Given the description of an element on the screen output the (x, y) to click on. 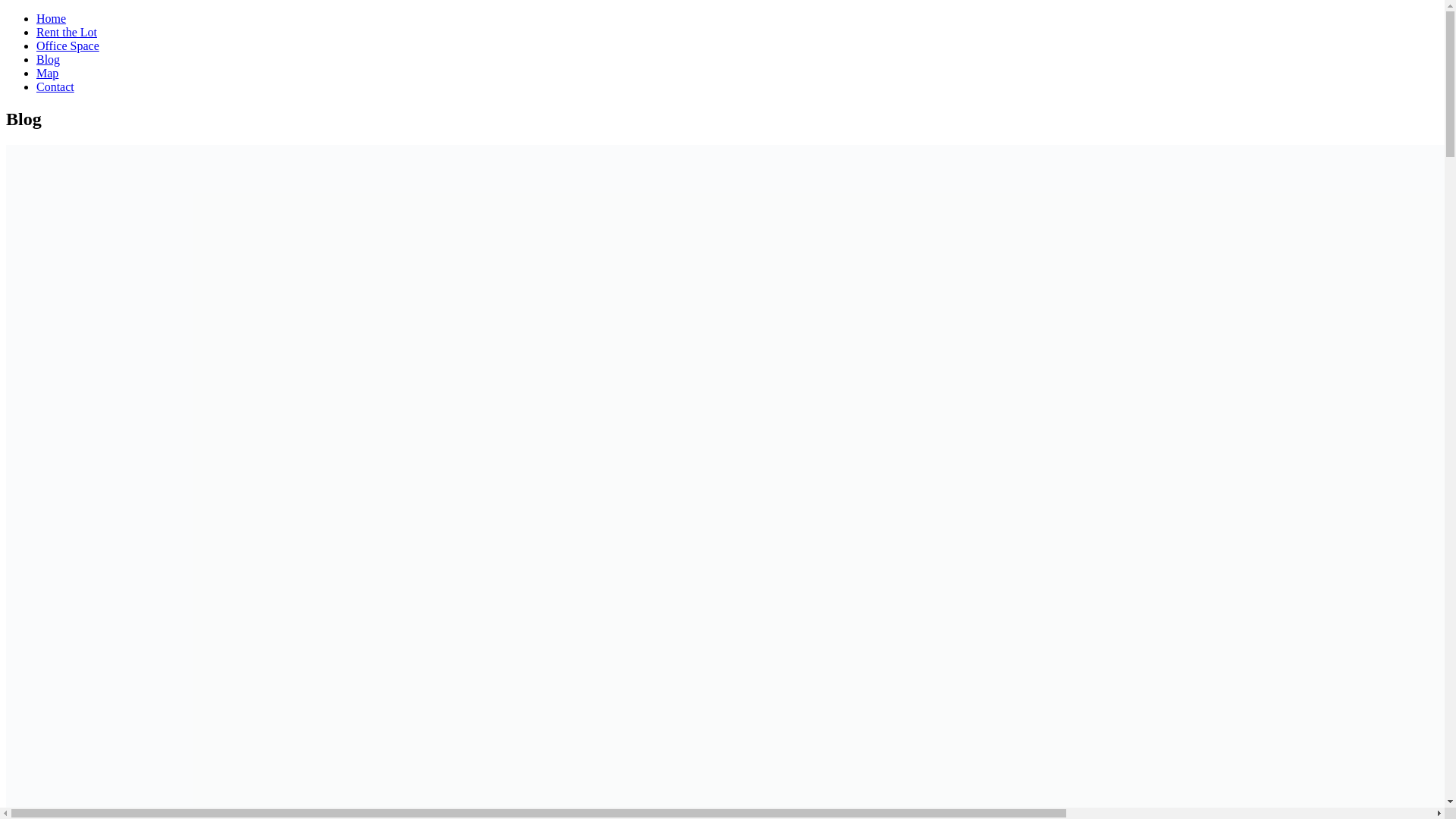
Rent the Lot (66, 31)
Blog (47, 59)
Home (50, 18)
Contact (55, 86)
Office Space (67, 45)
Map (47, 72)
